Given the description of an element on the screen output the (x, y) to click on. 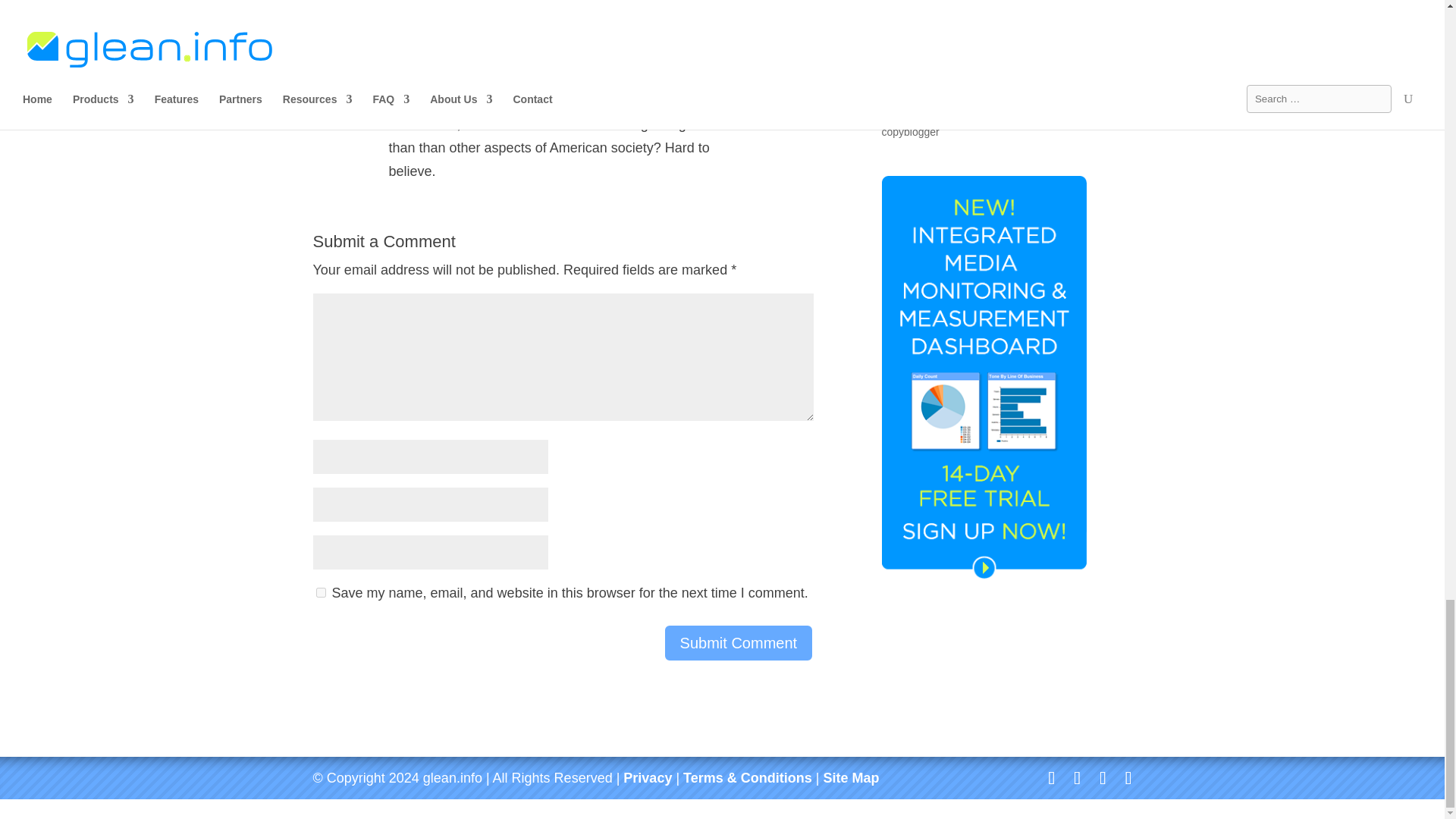
Submit Comment (738, 642)
yes (319, 592)
